Given the description of an element on the screen output the (x, y) to click on. 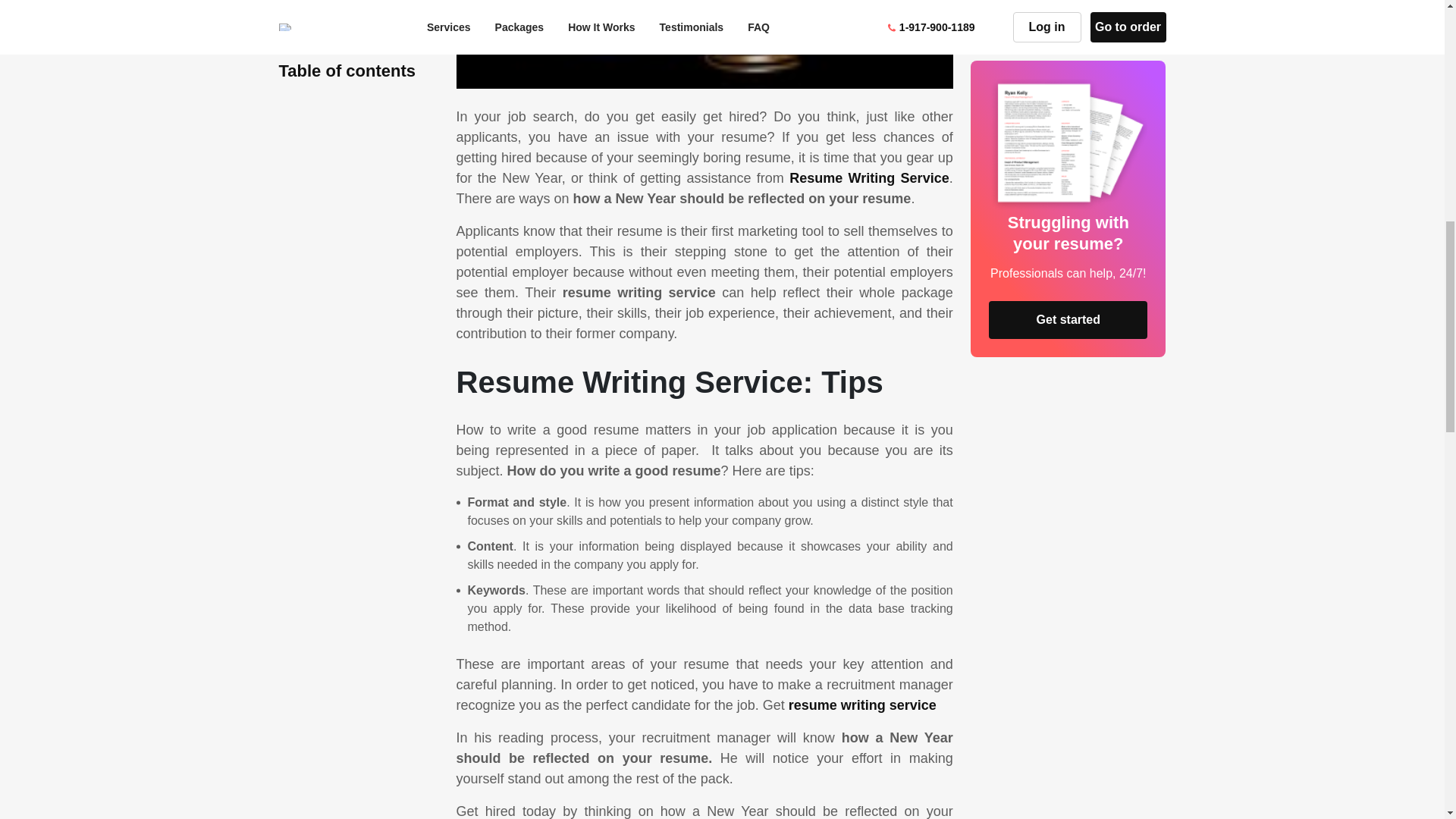
Professioanlly written resume from experts (862, 704)
Resume Writing Service (869, 177)
resume writing service (862, 704)
New Year in Your Resume (705, 44)
Turn to services of professional resume writers (869, 177)
